Given the description of an element on the screen output the (x, y) to click on. 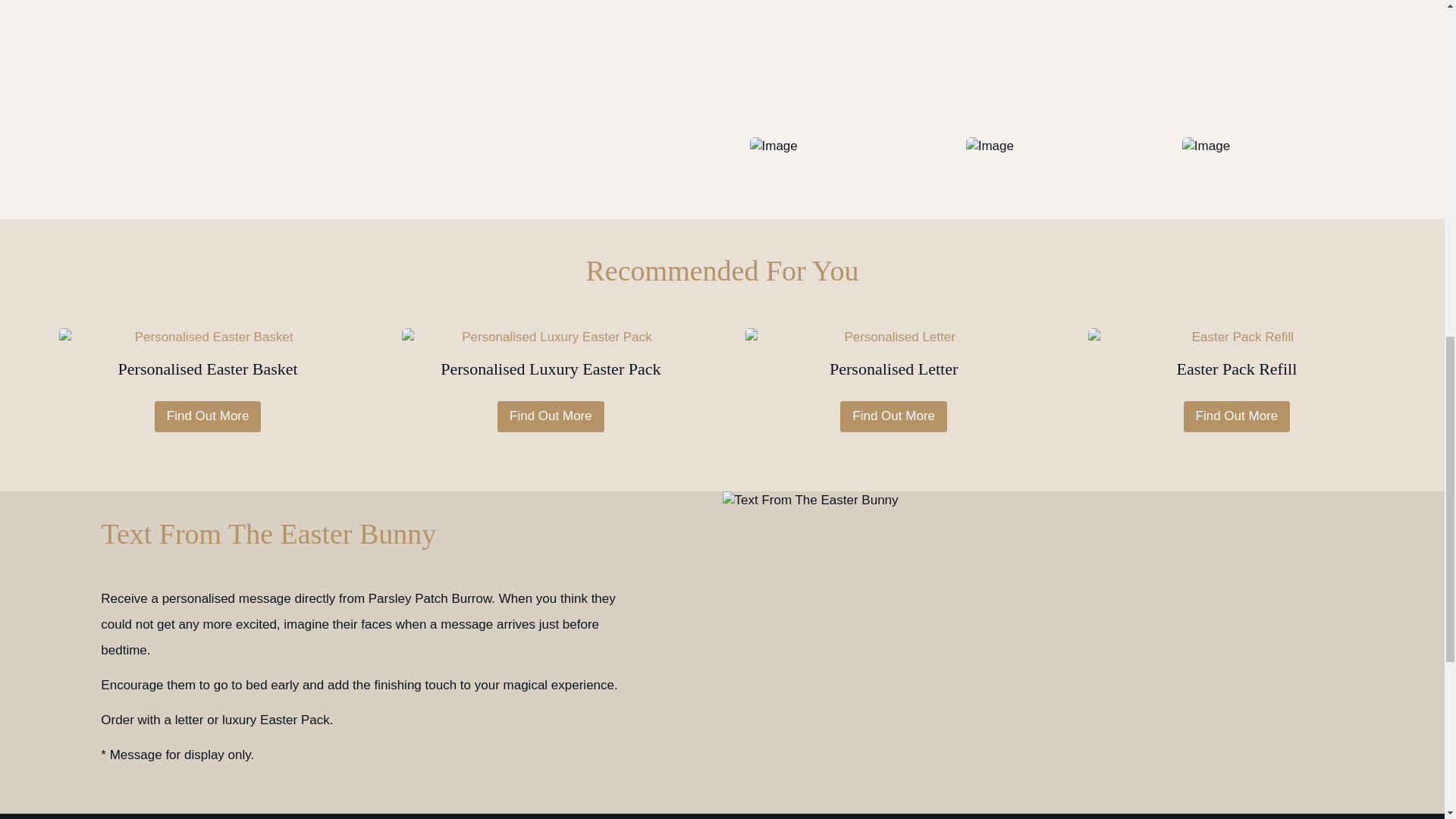
Easter Pack Refill (1236, 362)
Find Out More (893, 416)
Personalised Easter Basket (207, 362)
Personalised Letter (893, 362)
Find Out More (1236, 416)
Personalised Luxury Easter Pack (549, 362)
Find Out More (550, 416)
Find Out More (208, 416)
